Given the description of an element on the screen output the (x, y) to click on. 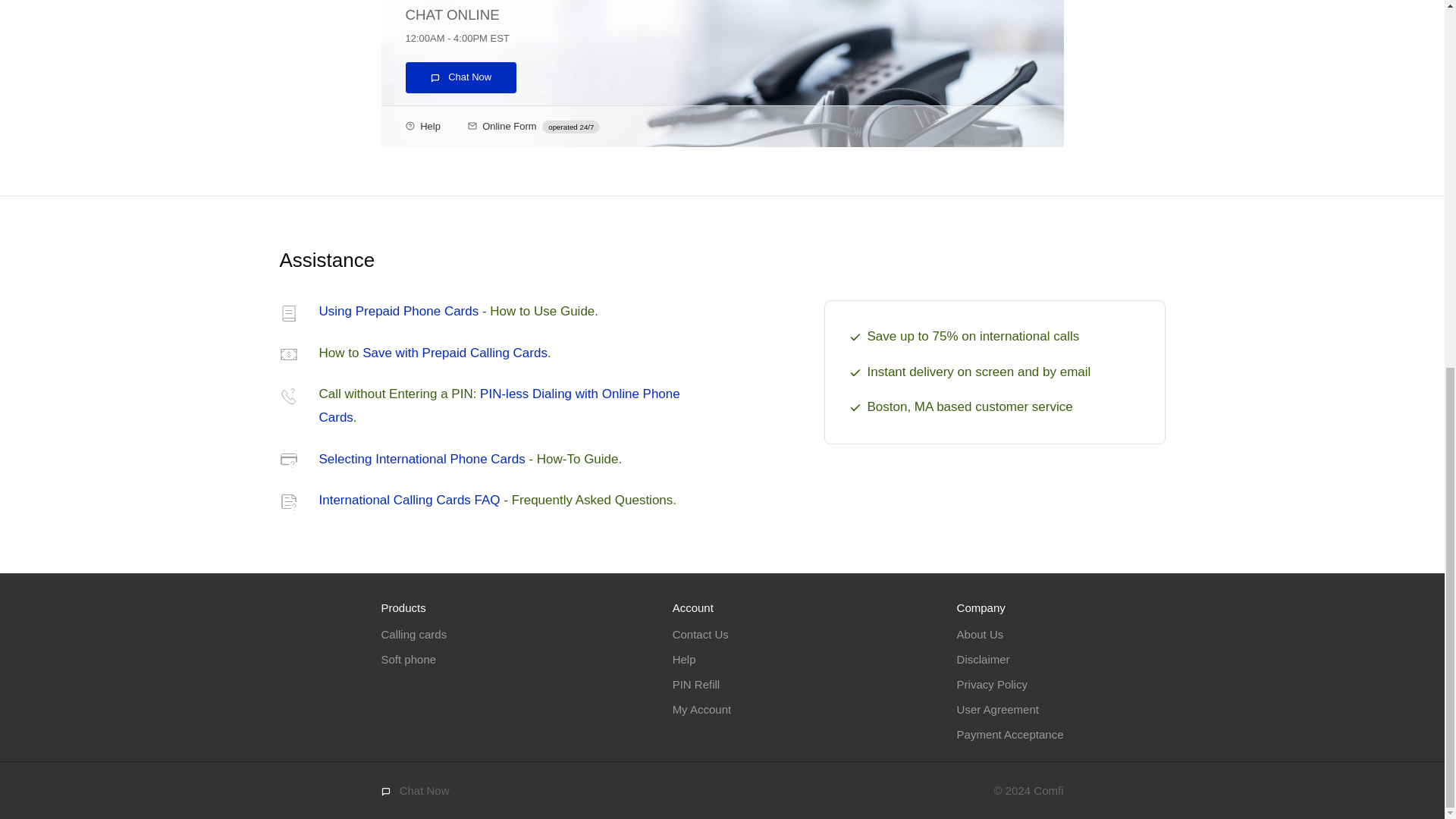
Selecting International Phone Cards (421, 459)
About Us (980, 634)
PIN-less Dialing with Online Phone Cards (498, 405)
My Account (702, 709)
Contact Us (700, 634)
User Agreement (997, 709)
Using Prepaid Phone Cards (398, 310)
Help (430, 125)
Save with Prepaid Calling Cards (454, 352)
PIN Refill (696, 684)
Help (683, 659)
Soft phone (407, 659)
Privacy Policy (991, 684)
Payment Acceptance (1010, 733)
Calling cards (413, 634)
